Given the description of an element on the screen output the (x, y) to click on. 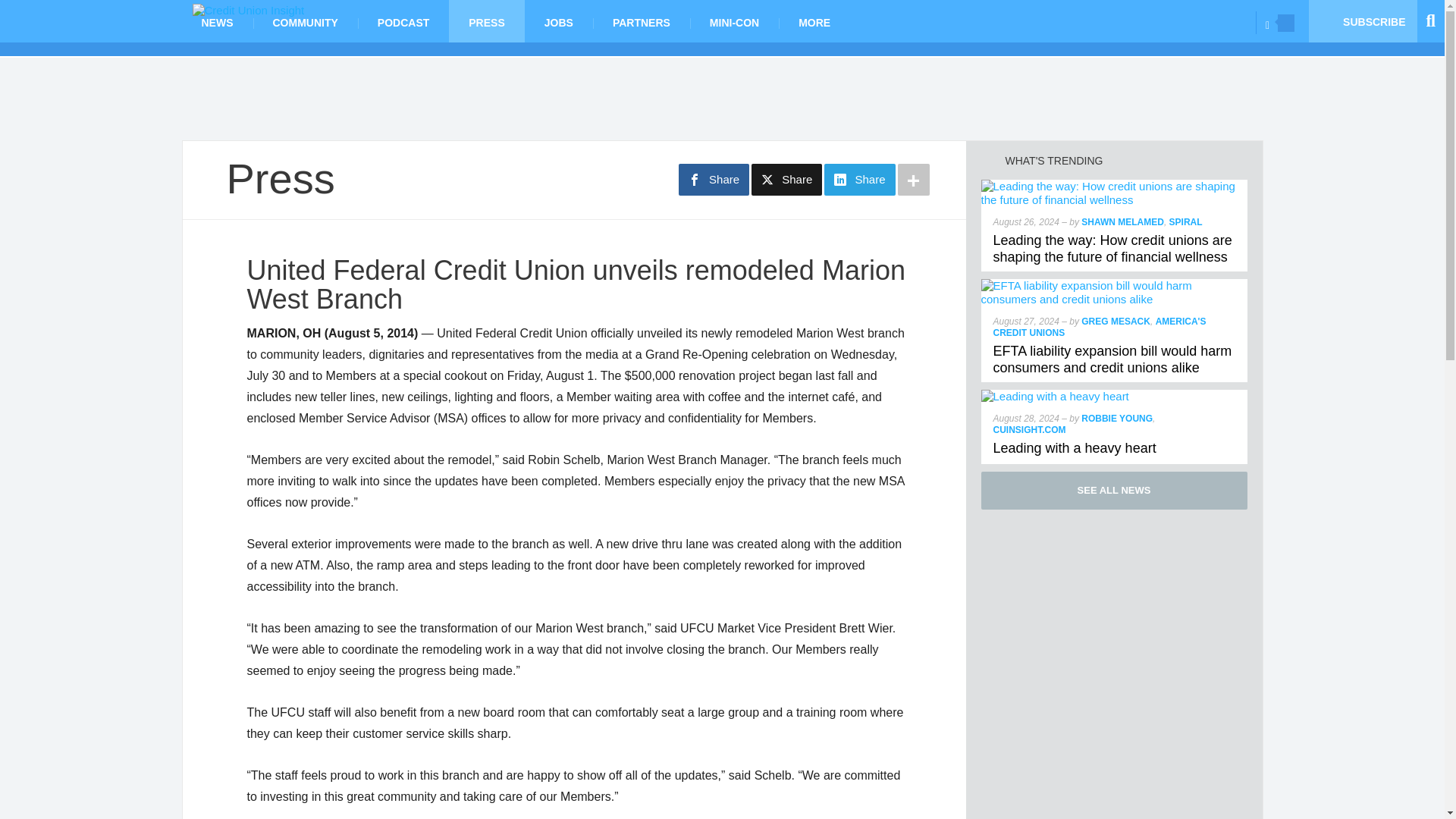
NEWS (217, 21)
Share (859, 179)
MINI-CON (734, 21)
Share (713, 179)
PODCAST (403, 21)
JOBS (558, 21)
PRESS (486, 21)
